Given the description of an element on the screen output the (x, y) to click on. 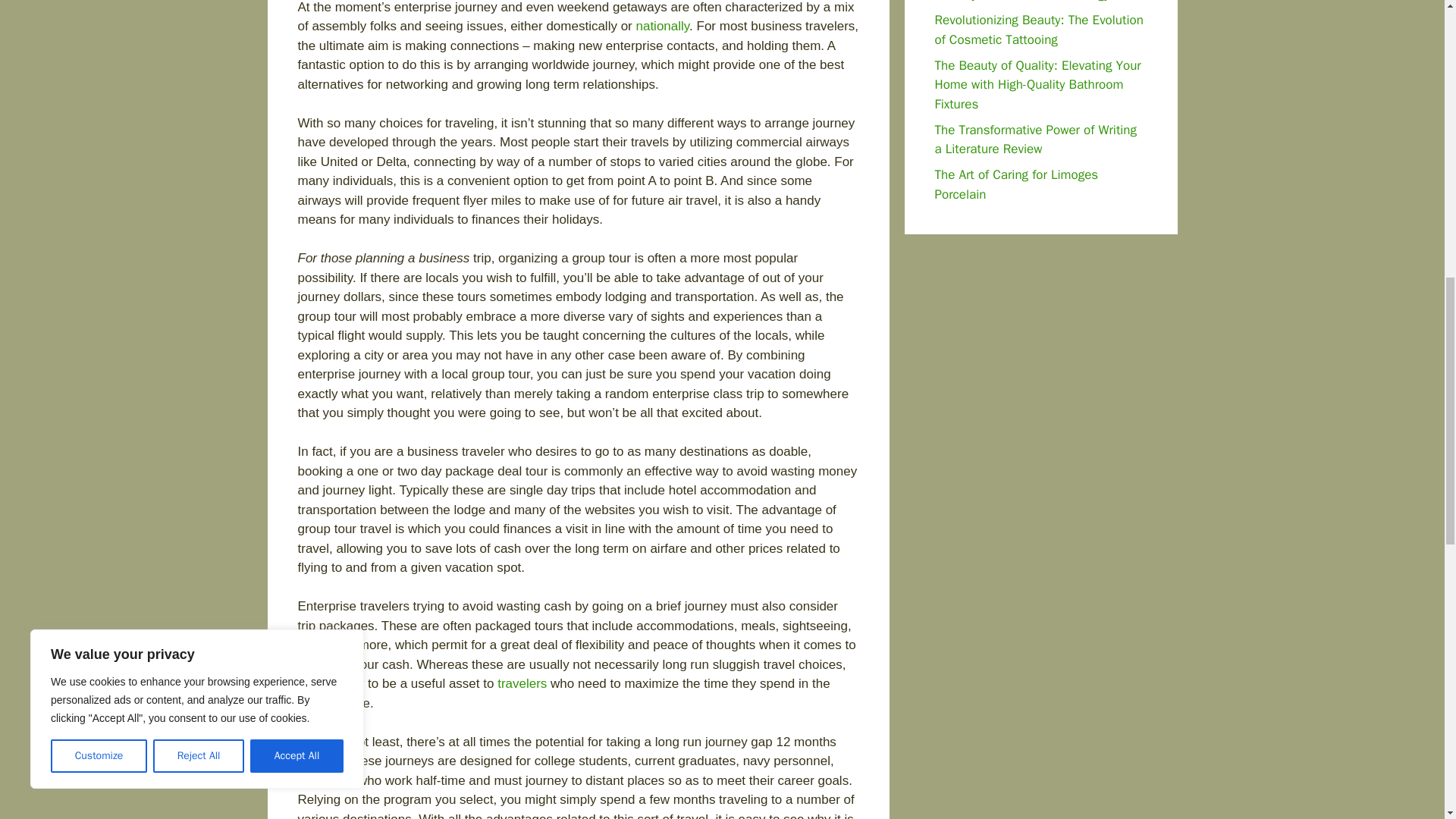
travelers (522, 683)
nationally (661, 25)
